Given the description of an element on the screen output the (x, y) to click on. 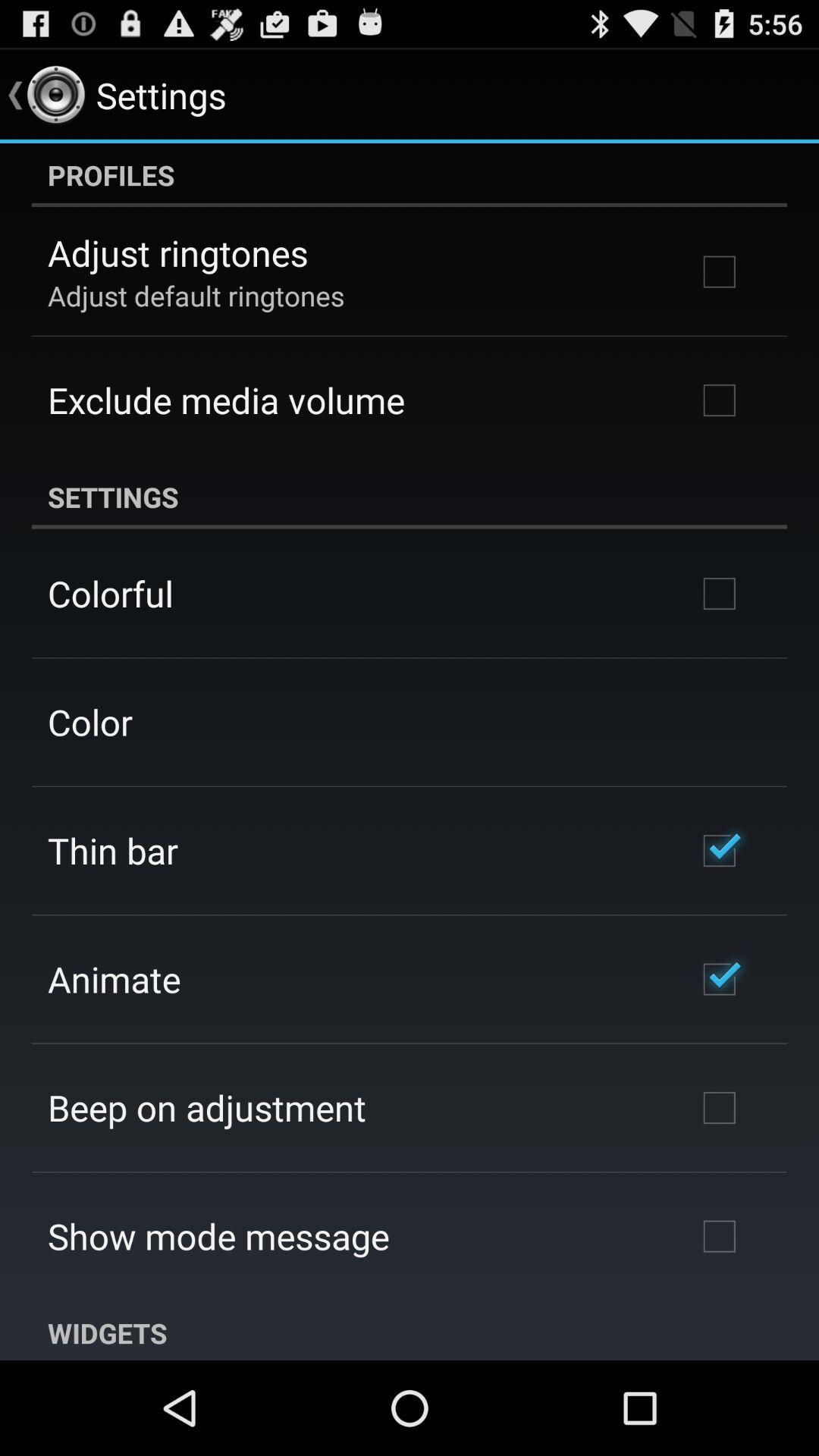
launch app below settings app (110, 593)
